Given the description of an element on the screen output the (x, y) to click on. 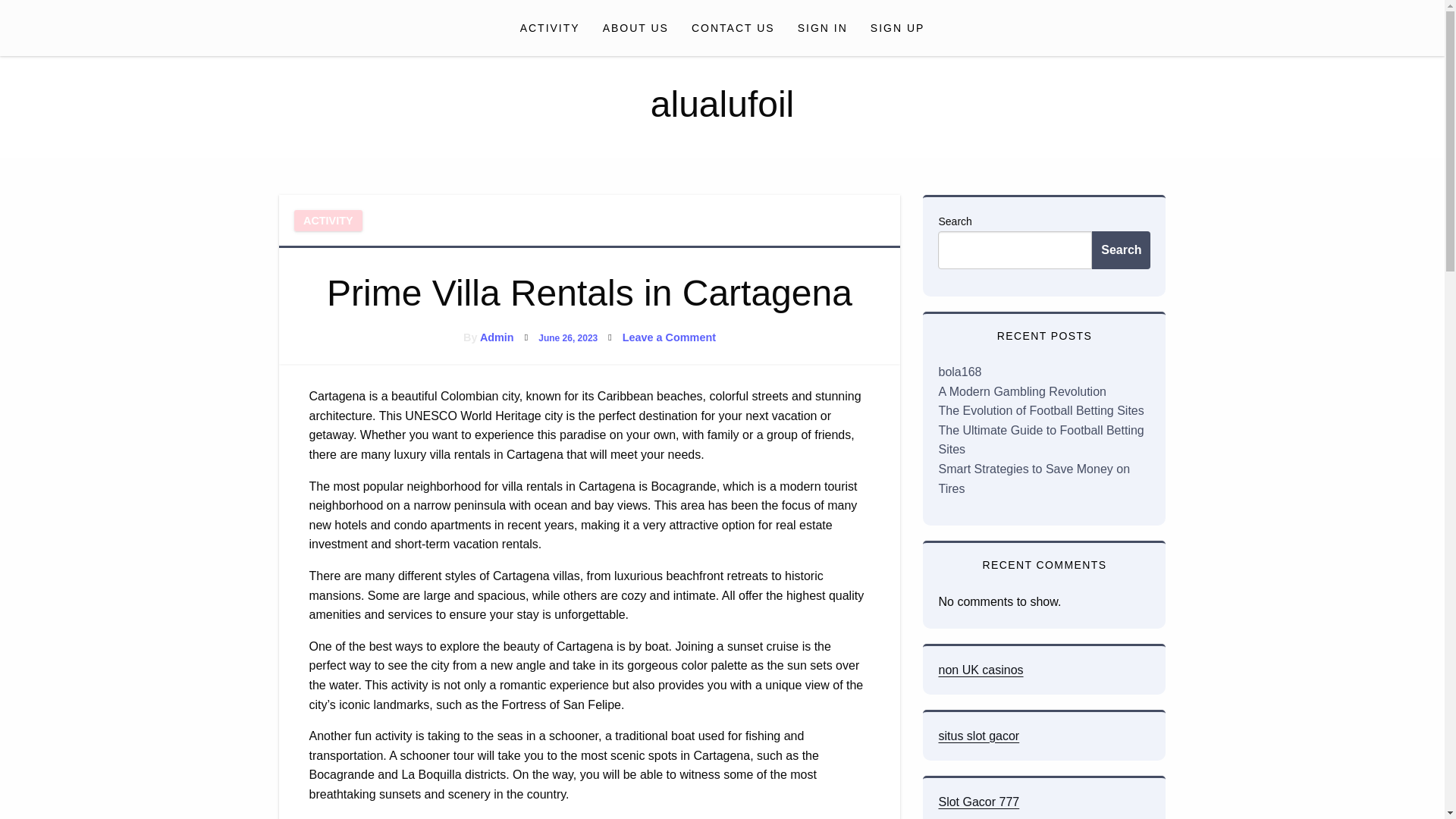
situs slot gacor (978, 735)
Admin (496, 337)
CONTACT US (669, 337)
ACTIVITY (732, 27)
Slot Gacor 777 (549, 27)
The Evolution of Football Betting Sites (978, 801)
SIGN IN (1039, 410)
non UK casinos (822, 27)
bola168 (980, 669)
